Given the description of an element on the screen output the (x, y) to click on. 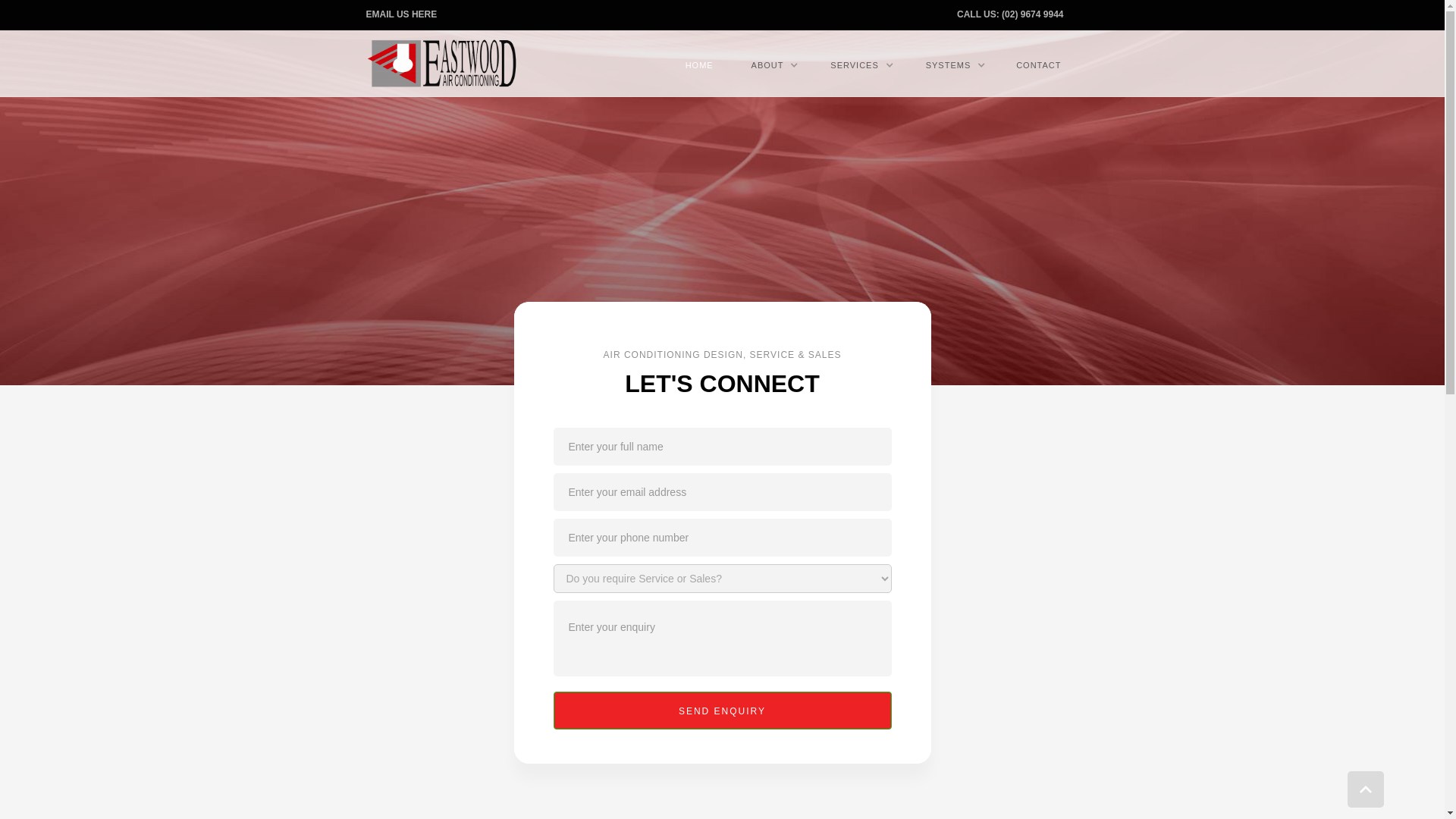
CONTACT Element type: text (1038, 65)
Send Enquiry Element type: text (722, 710)
HOME Element type: text (699, 65)
CALL US: (02) 9674 9944 Element type: text (1018, 14)
EMAIL US HERE Element type: text (408, 14)
